Given the description of an element on the screen output the (x, y) to click on. 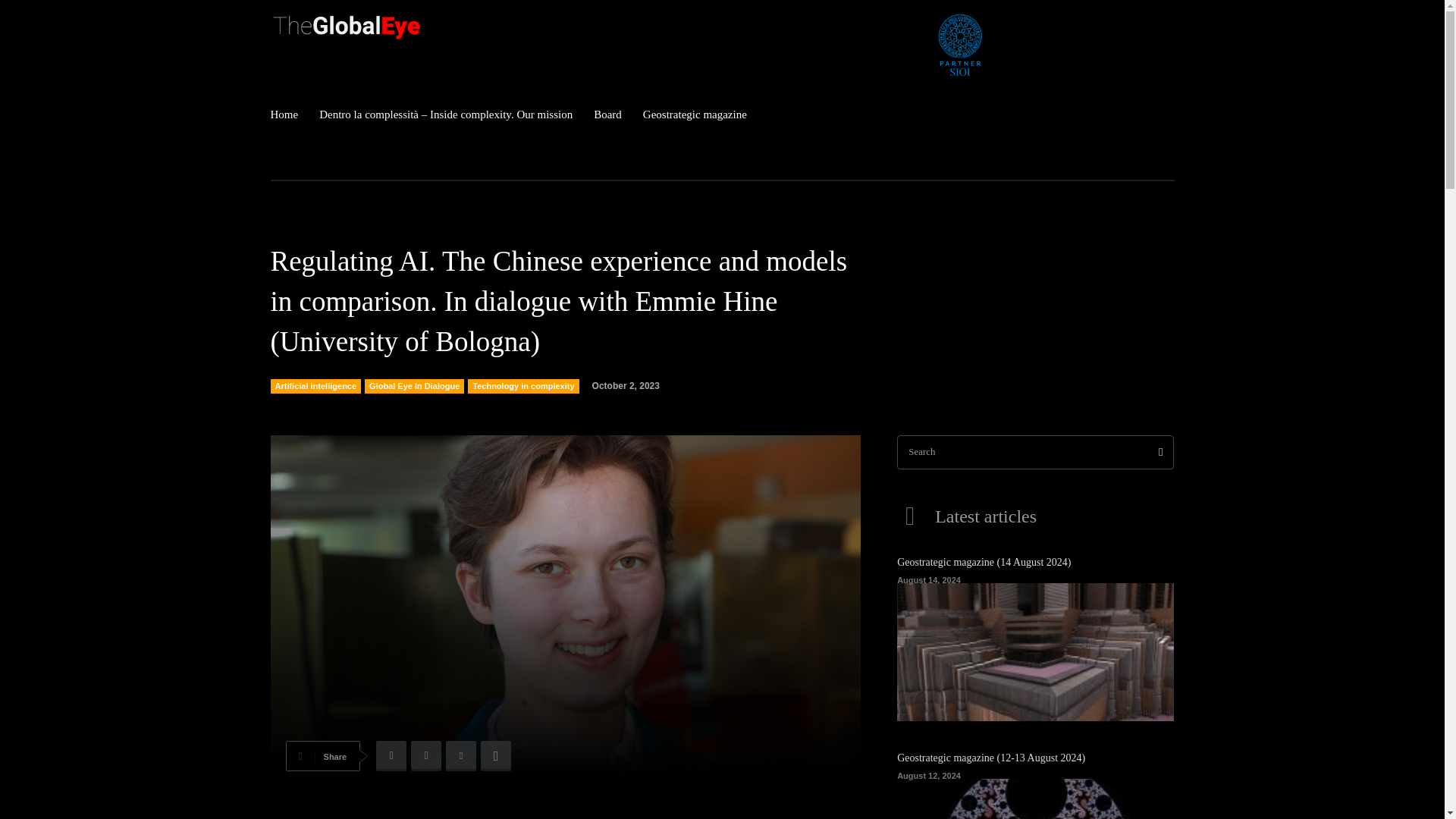
WhatsApp (495, 756)
Twitter (425, 756)
Geostrategic magazine (694, 114)
Global Eye In Dialogue (414, 386)
Pinterest (460, 756)
Technology in complexity (522, 386)
Facebook (390, 756)
Artificial intelligence (315, 386)
